Given the description of an element on the screen output the (x, y) to click on. 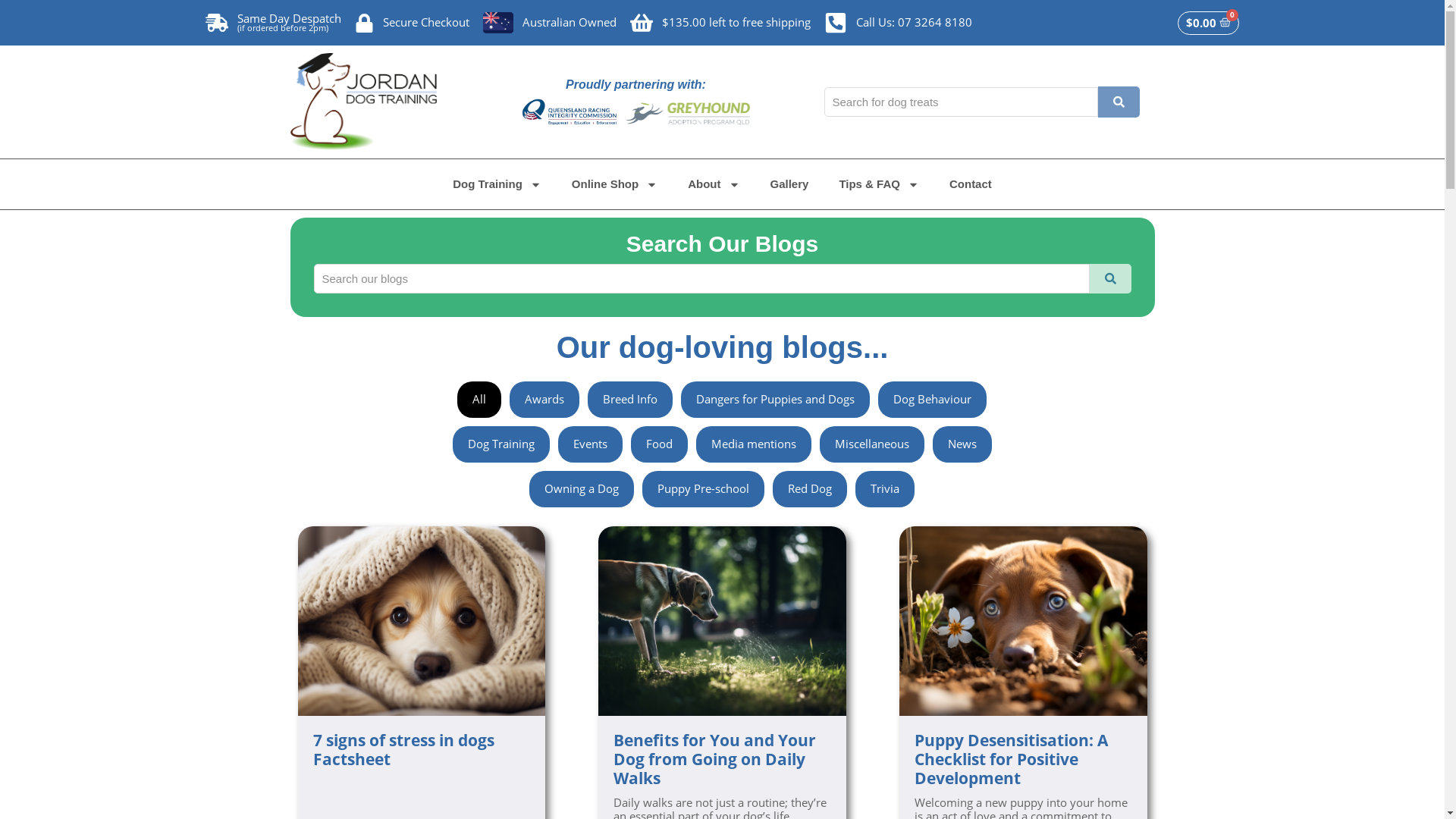
Owning a Dog Element type: text (581, 488)
Dog Training Element type: text (500, 444)
Puppy Desensitisation: A Checklist for Positive Development Element type: text (1023, 759)
Puppy Pre-school Element type: text (703, 488)
Dog Behaviour Element type: text (932, 399)
Breed Info Element type: text (629, 399)
Benefits for You and Your Dog from Going on Daily Walks Element type: text (722, 759)
News Element type: text (961, 444)
Contact Element type: text (970, 183)
Dangers for Puppies and Dogs Element type: text (774, 399)
Online Shop Element type: text (614, 183)
Call Us: 07 3264 8180 Element type: text (898, 22)
Miscellaneous Element type: text (871, 444)
Red Dog Element type: text (809, 488)
Gallery Element type: text (789, 183)
Tips & FAQ Element type: text (878, 183)
Dog Training Element type: text (496, 183)
Awards Element type: text (544, 399)
Media mentions Element type: text (753, 444)
7 signs of stress in dogs Factsheet Element type: text (421, 749)
Events Element type: text (590, 444)
All Element type: text (479, 399)
About Element type: text (713, 183)
$0.00
0 Element type: text (1208, 22)
Food Element type: text (658, 444)
Trivia Element type: text (884, 488)
